Given the description of an element on the screen output the (x, y) to click on. 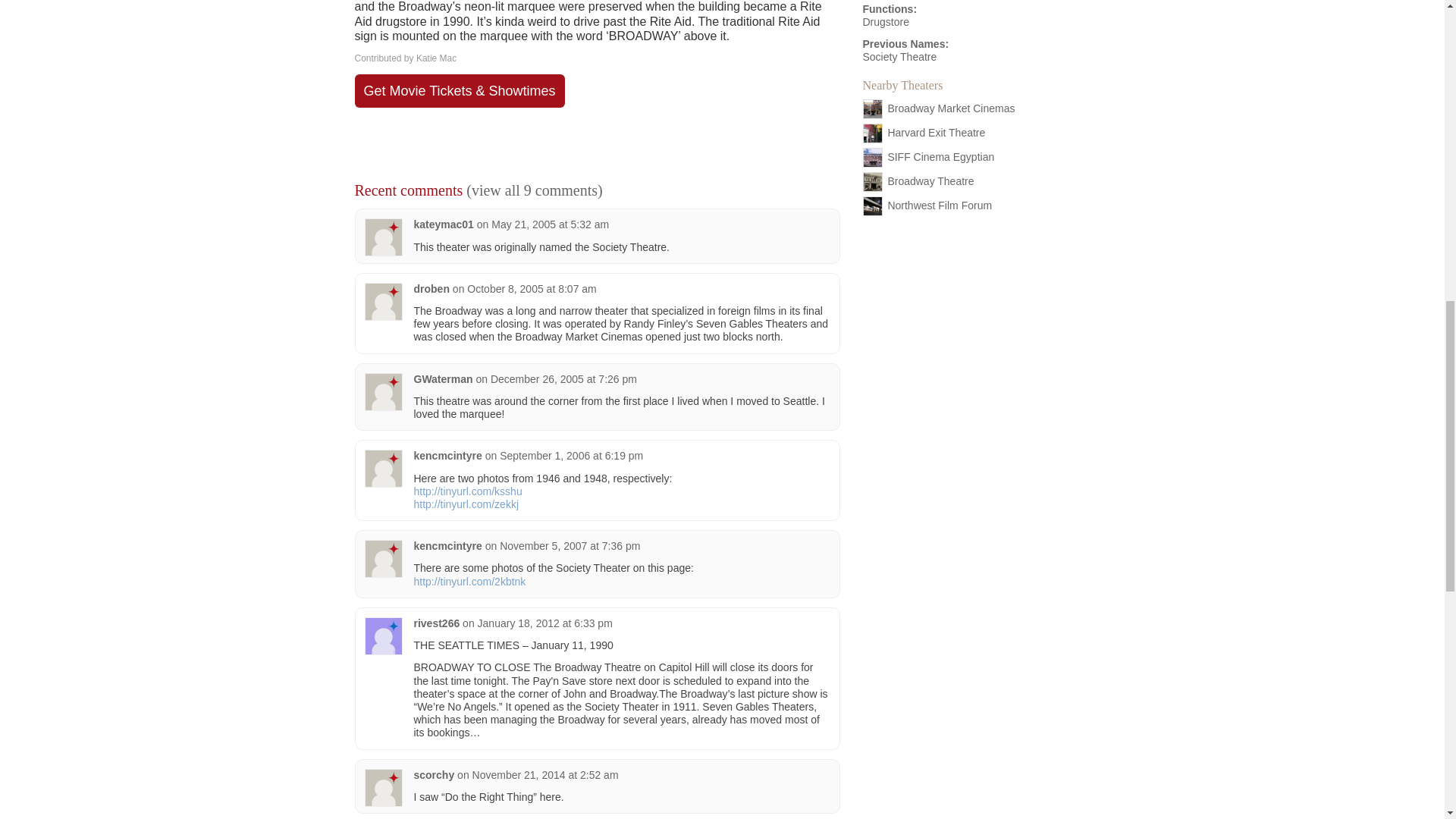
Broadway Market Cinemas (950, 108)
SIFF Cinema Egyptian (940, 156)
May 21, 2005 at 5:32 am (550, 224)
kateymac01 (443, 224)
Northwest Film Forum (938, 205)
Drugstore (885, 21)
Harvard Exit Theatre (935, 132)
Broadway Theatre (930, 181)
